Given the description of an element on the screen output the (x, y) to click on. 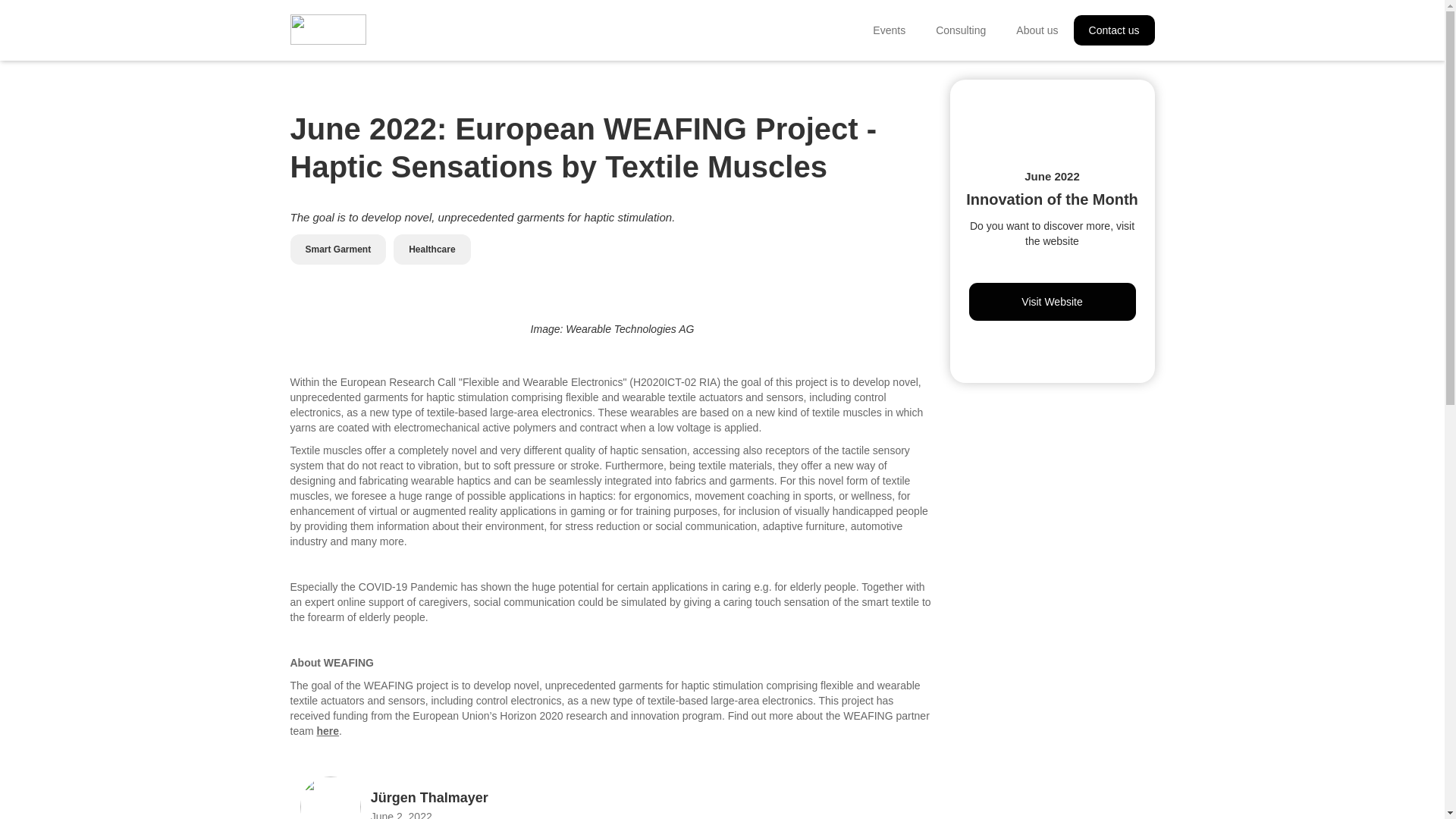
Events (888, 30)
Consulting (960, 30)
Contact us (1114, 30)
Visit Website (1052, 300)
here (328, 730)
About us (1037, 30)
